Given the description of an element on the screen output the (x, y) to click on. 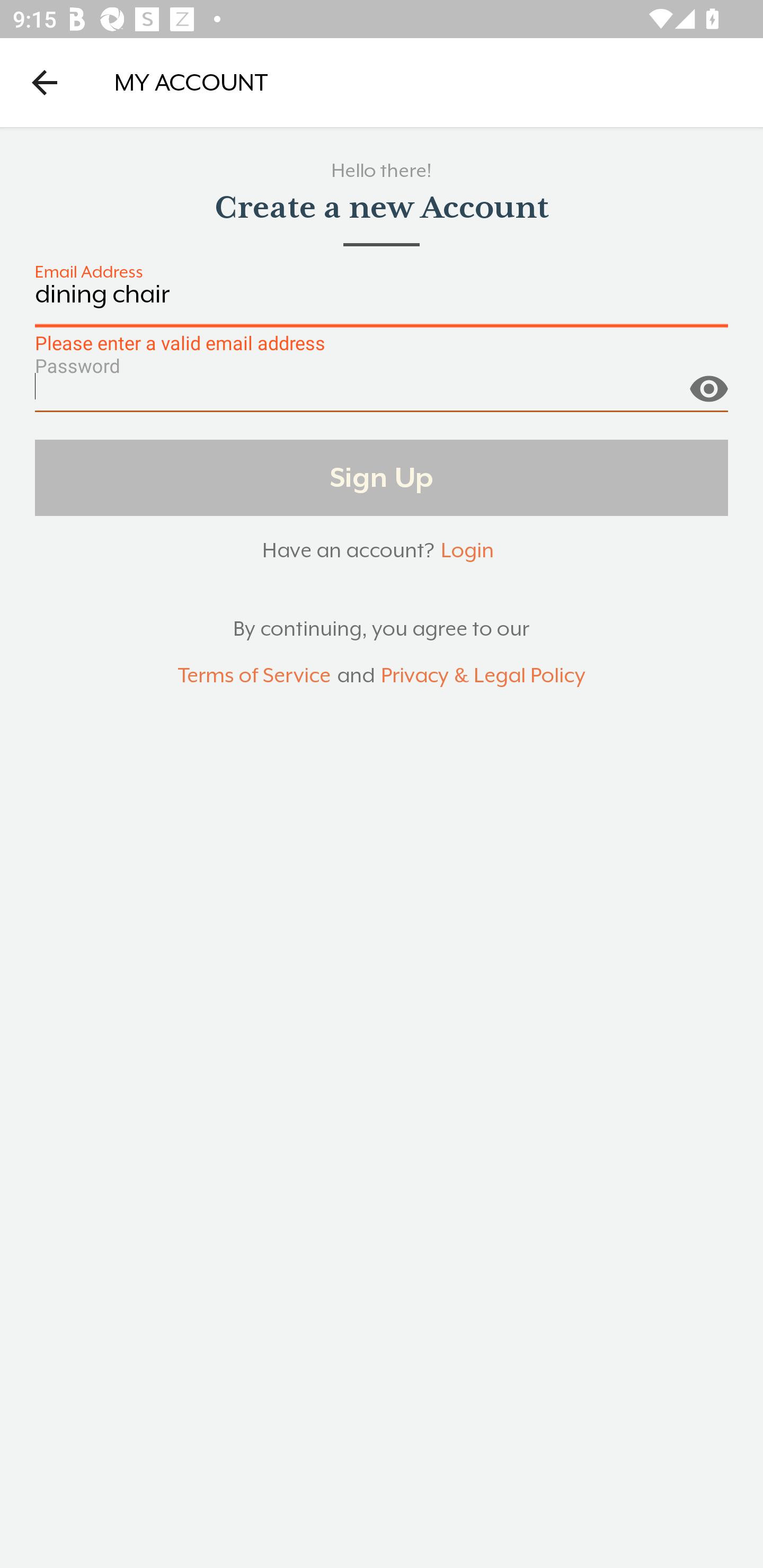
Navigate up (44, 82)
dining chair (381, 304)
 (708, 381)
Password (381, 393)
Sign Up (381, 477)
Login (467, 550)
Terms of Service (253, 675)
Privacy & Legal Policy (483, 675)
